Given the description of an element on the screen output the (x, y) to click on. 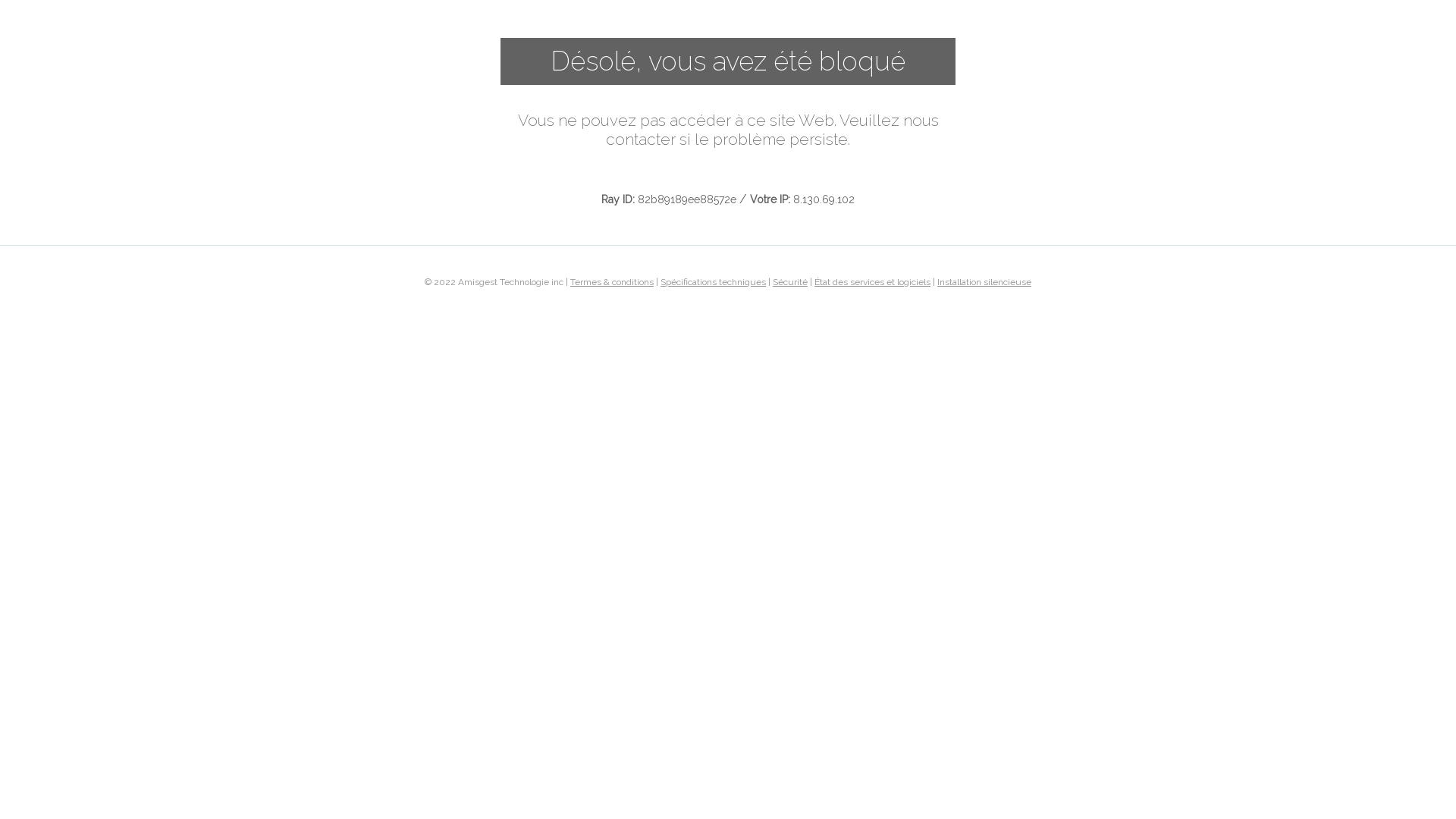
Termes & conditions Element type: text (611, 281)
Installation silencieuse Element type: text (984, 281)
